Given the description of an element on the screen output the (x, y) to click on. 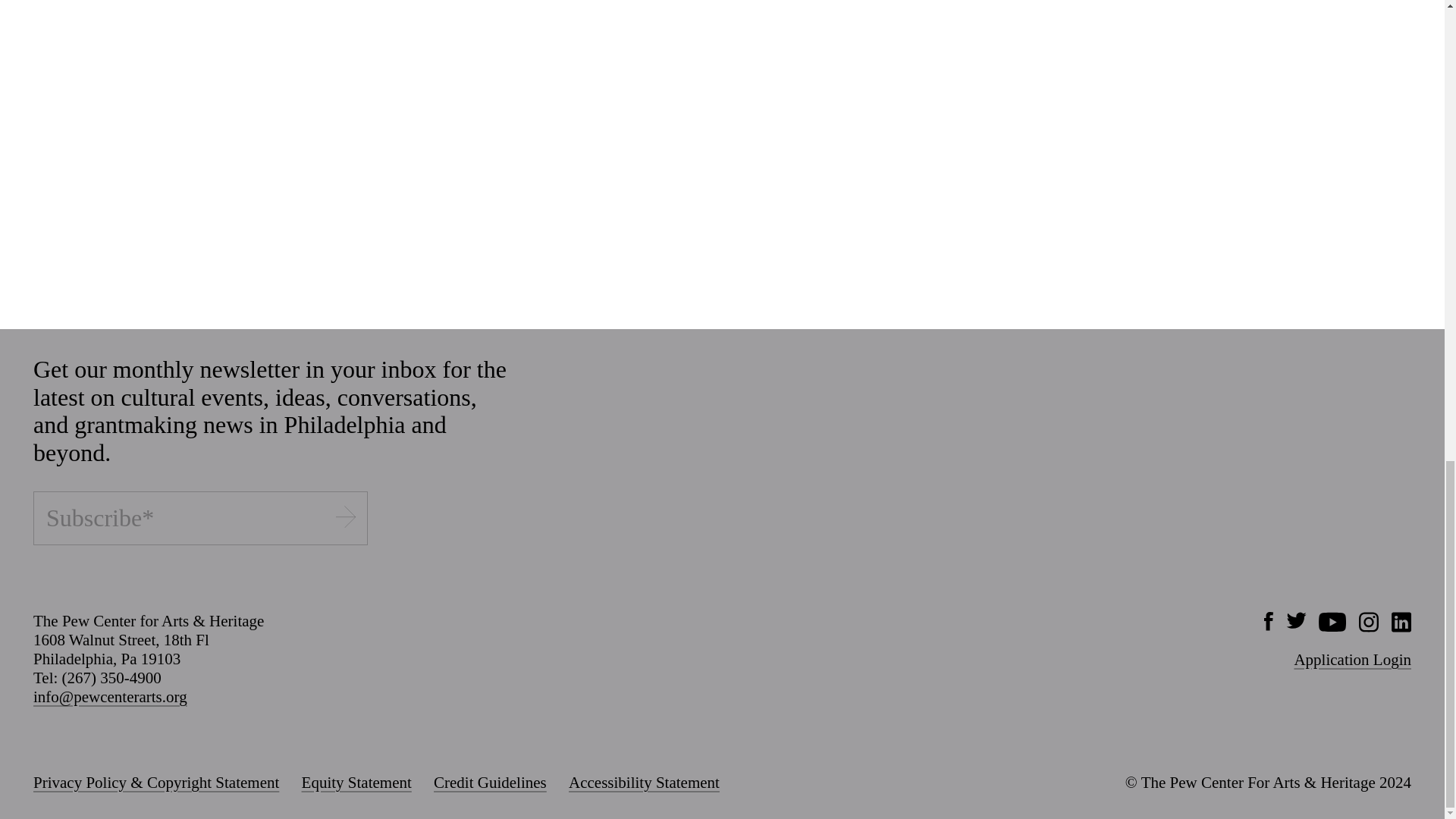
Credit Guidelines (490, 782)
Equity Statement (356, 782)
Accessibility Statement (644, 782)
Application Login (1352, 659)
